Given the description of an element on the screen output the (x, y) to click on. 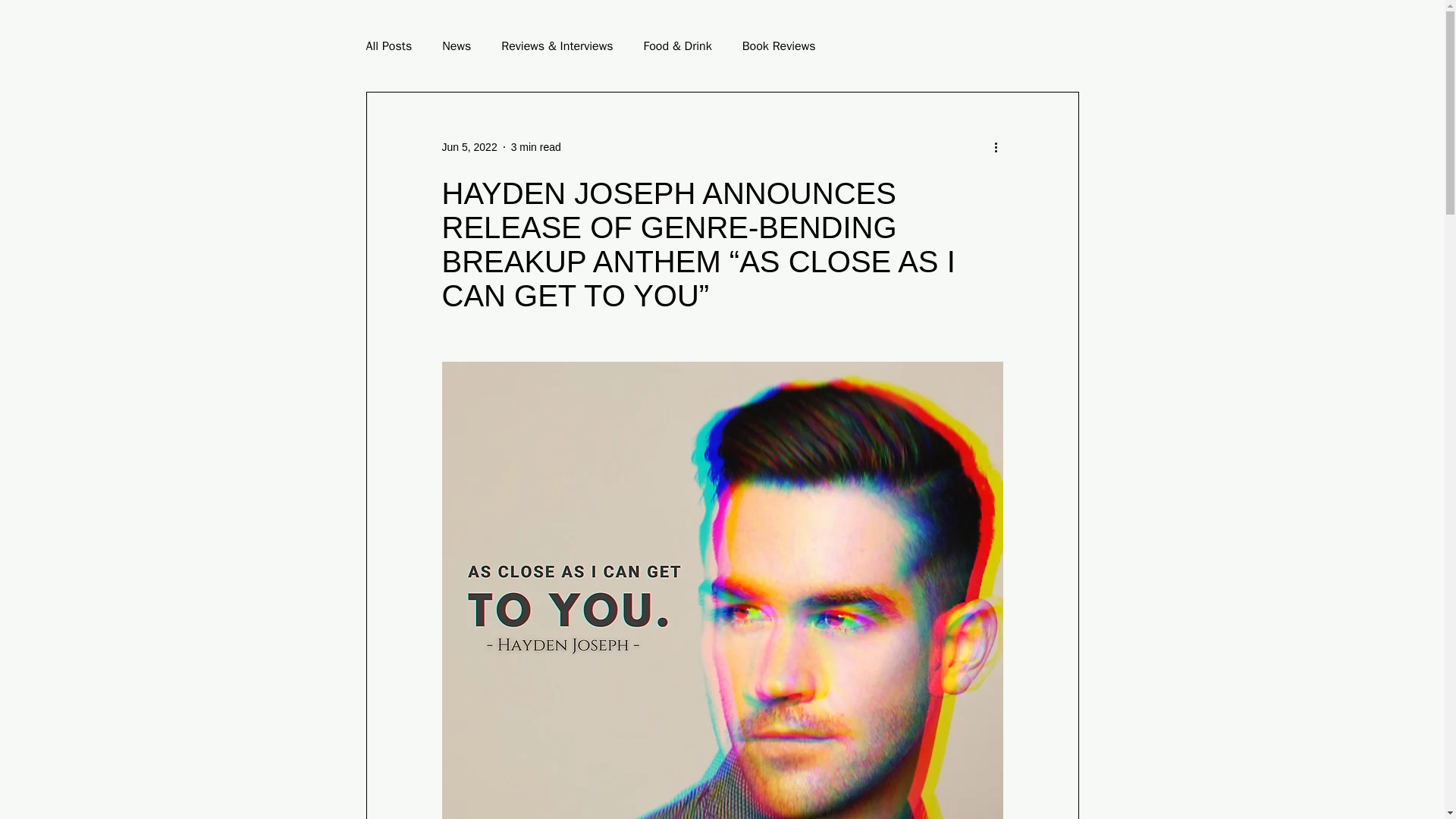
All Posts (388, 45)
3 min read (535, 146)
Jun 5, 2022 (468, 146)
Book Reviews (778, 45)
News (456, 45)
